Given the description of an element on the screen output the (x, y) to click on. 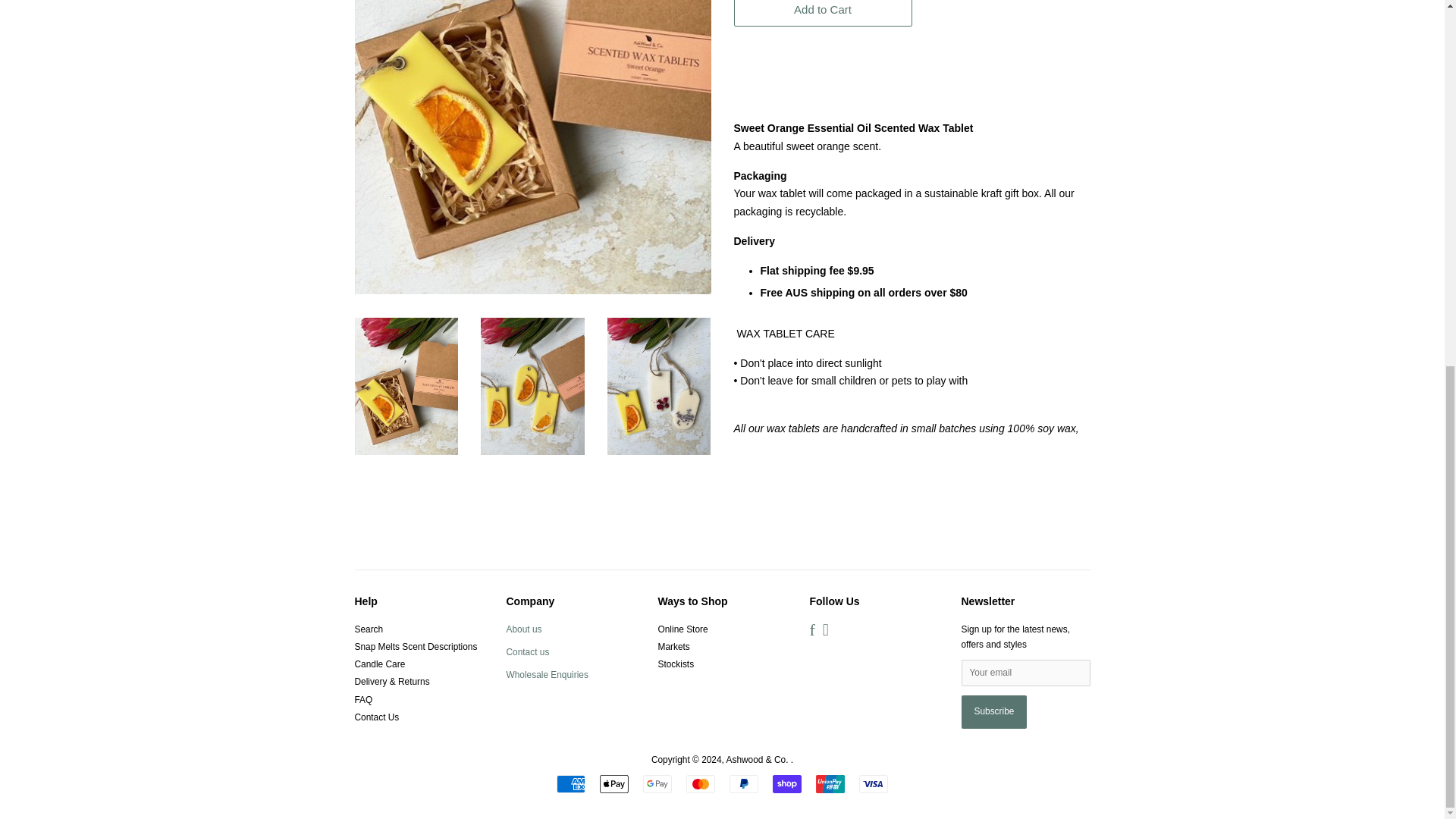
Wholesale Enquiries (547, 674)
Google Pay (657, 783)
Visa (873, 783)
Union Pay (829, 783)
Contact Us (528, 652)
Apple Pay (613, 783)
American Express (570, 783)
Subscribe (993, 711)
Shop Pay (787, 783)
About Us (523, 629)
